Given the description of an element on the screen output the (x, y) to click on. 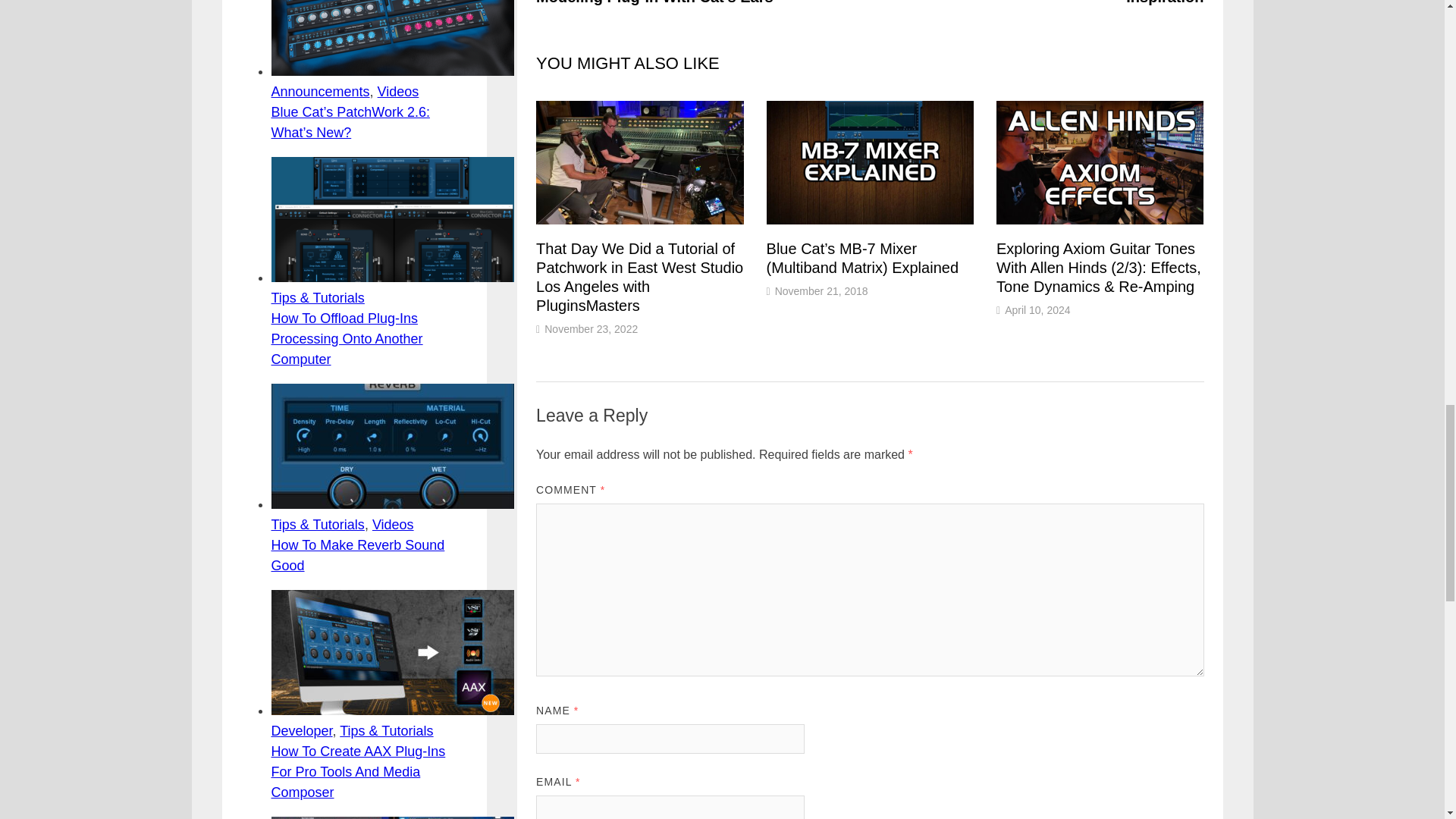
November 23, 2022 (590, 328)
April 10, 2024 (1037, 309)
November 21, 2018 (820, 291)
